Given the description of an element on the screen output the (x, y) to click on. 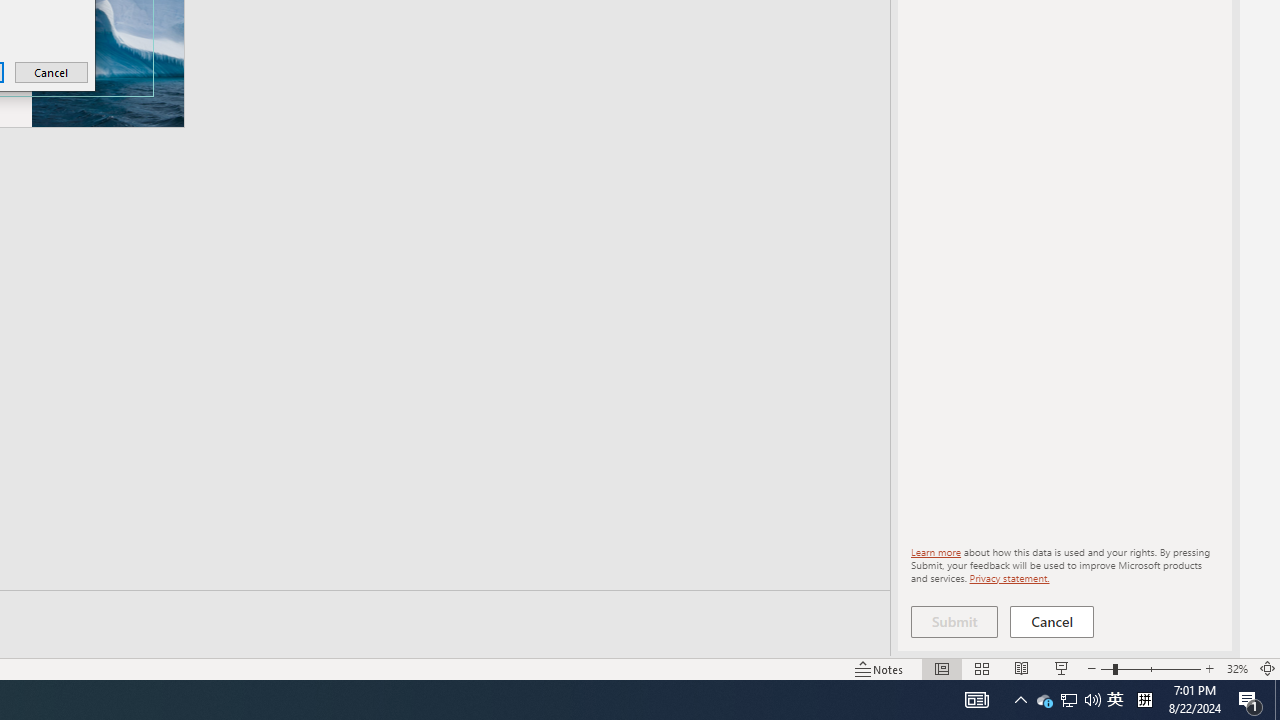
Learn more (936, 551)
Submit (954, 621)
Privacy statement. (1008, 577)
